Given the description of an element on the screen output the (x, y) to click on. 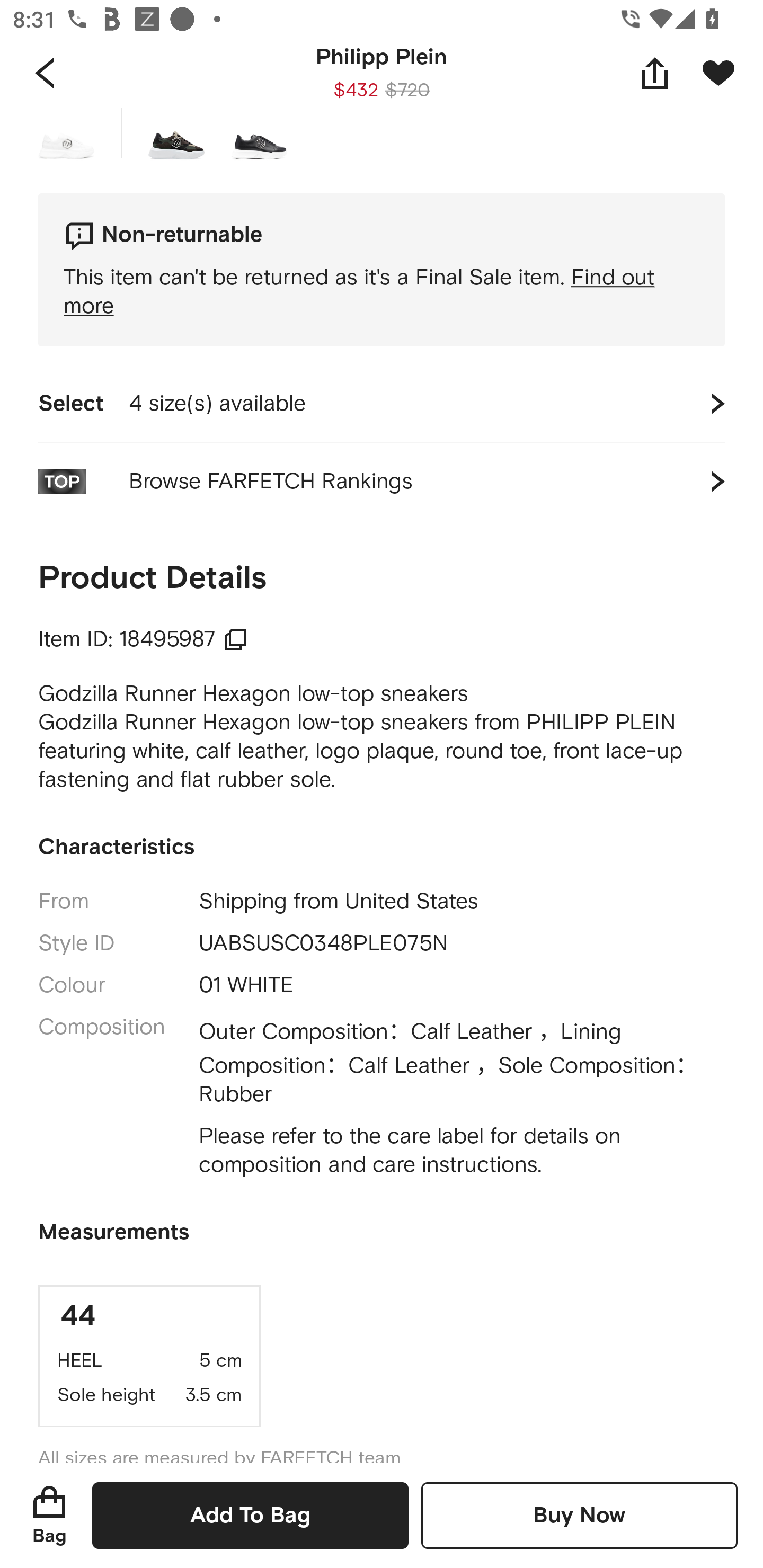
Select 4 size(s) available (381, 403)
Browse FARFETCH Rankings (381, 481)
Item ID: 18495987 (142, 639)
Bag (49, 1515)
Add To Bag (250, 1515)
Buy Now (579, 1515)
